Given the description of an element on the screen output the (x, y) to click on. 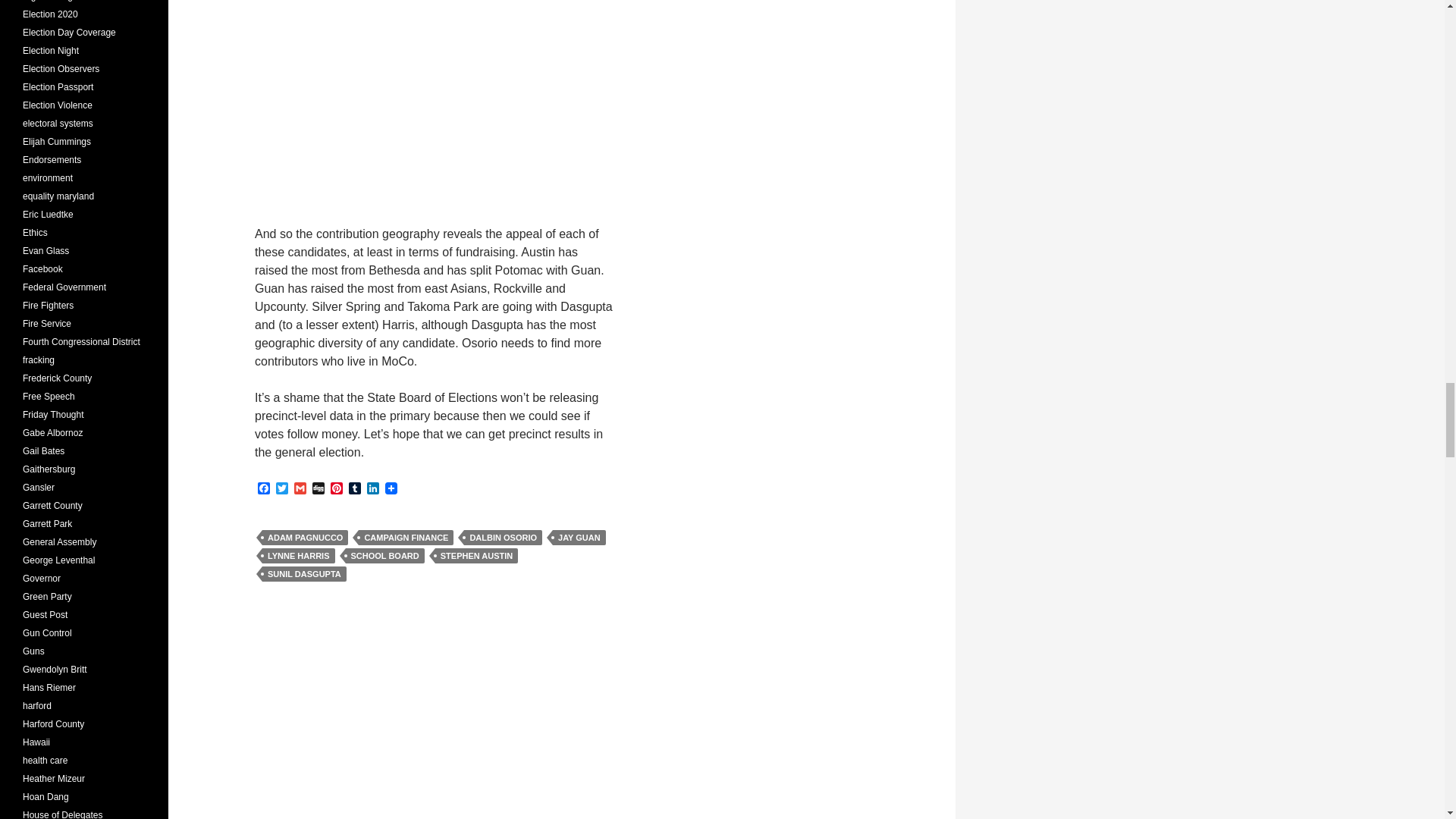
STEPHEN AUSTIN (476, 555)
LinkedIn (372, 489)
Digg (317, 489)
SCHOOL BOARD (385, 555)
Facebook (263, 489)
Pinterest (336, 489)
JAY GUAN (579, 537)
Gmail (299, 489)
DALBIN OSORIO (502, 537)
LYNNE HARRIS (298, 555)
